Given the description of an element on the screen output the (x, y) to click on. 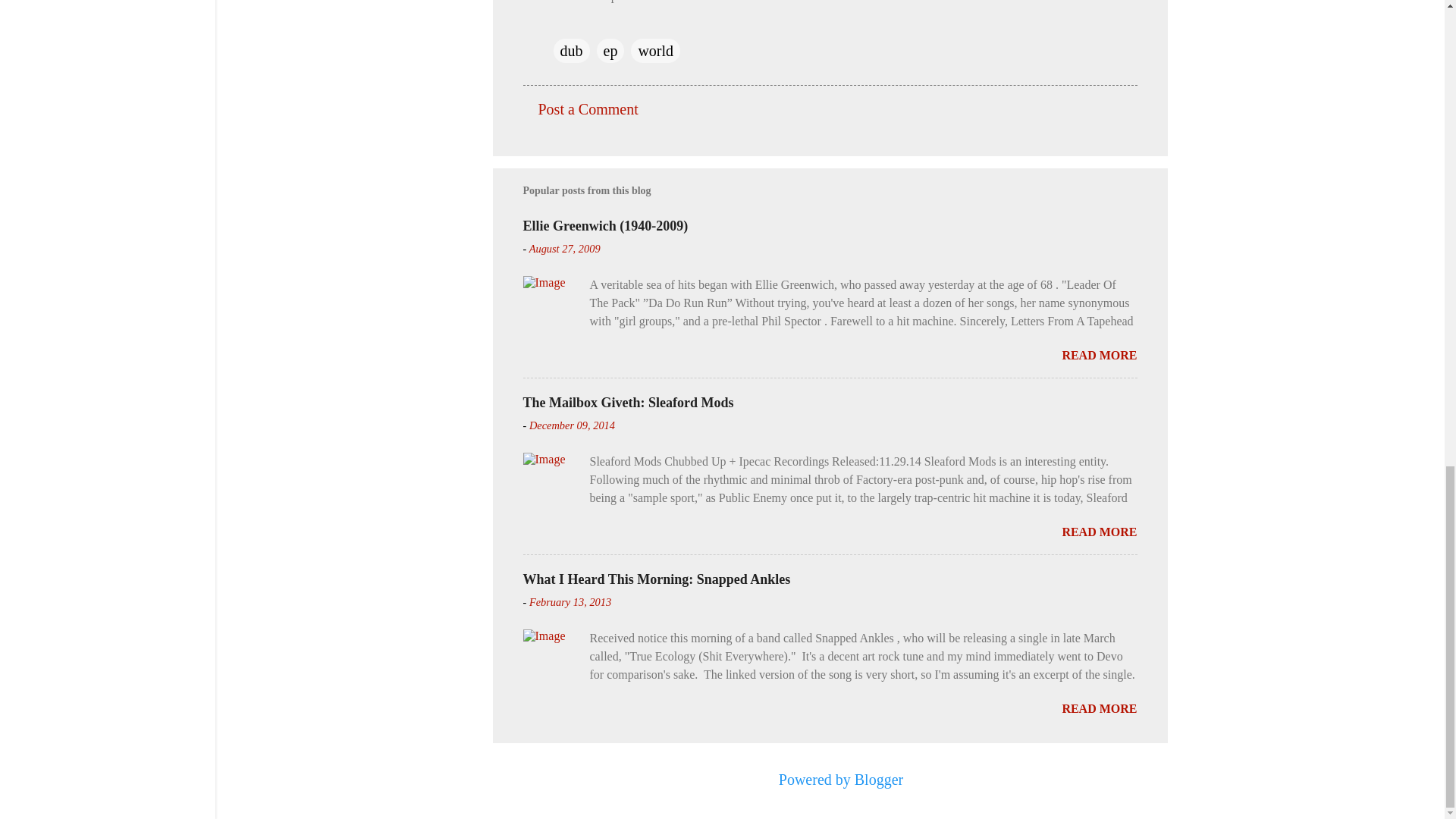
December 09, 2014 (571, 425)
The Mailbox Giveth: Sleaford Mods (627, 402)
February 13, 2013 (570, 602)
Post a Comment (588, 108)
READ MORE (1099, 354)
ep (609, 50)
world (654, 50)
What I Heard This Morning: Snapped Ankles (656, 579)
permanent link (564, 248)
READ MORE (1099, 531)
